Given the description of an element on the screen output the (x, y) to click on. 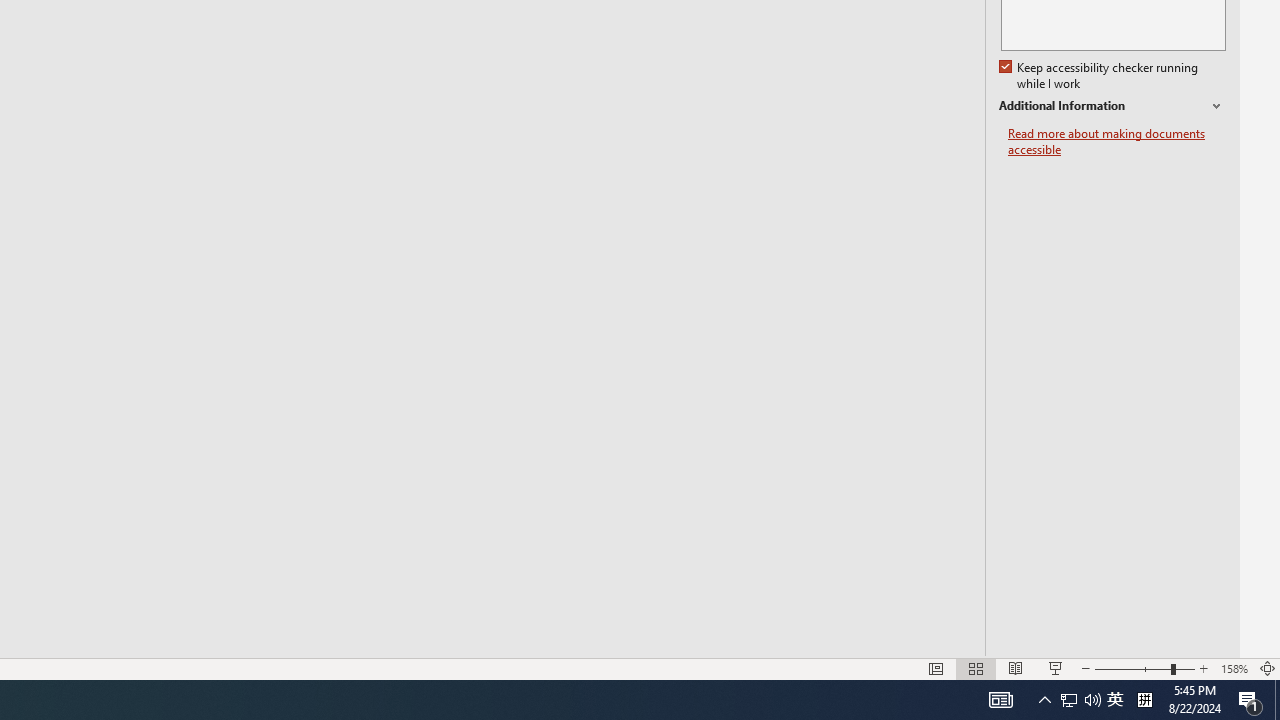
Zoom 158% (1234, 668)
